Given the description of an element on the screen output the (x, y) to click on. 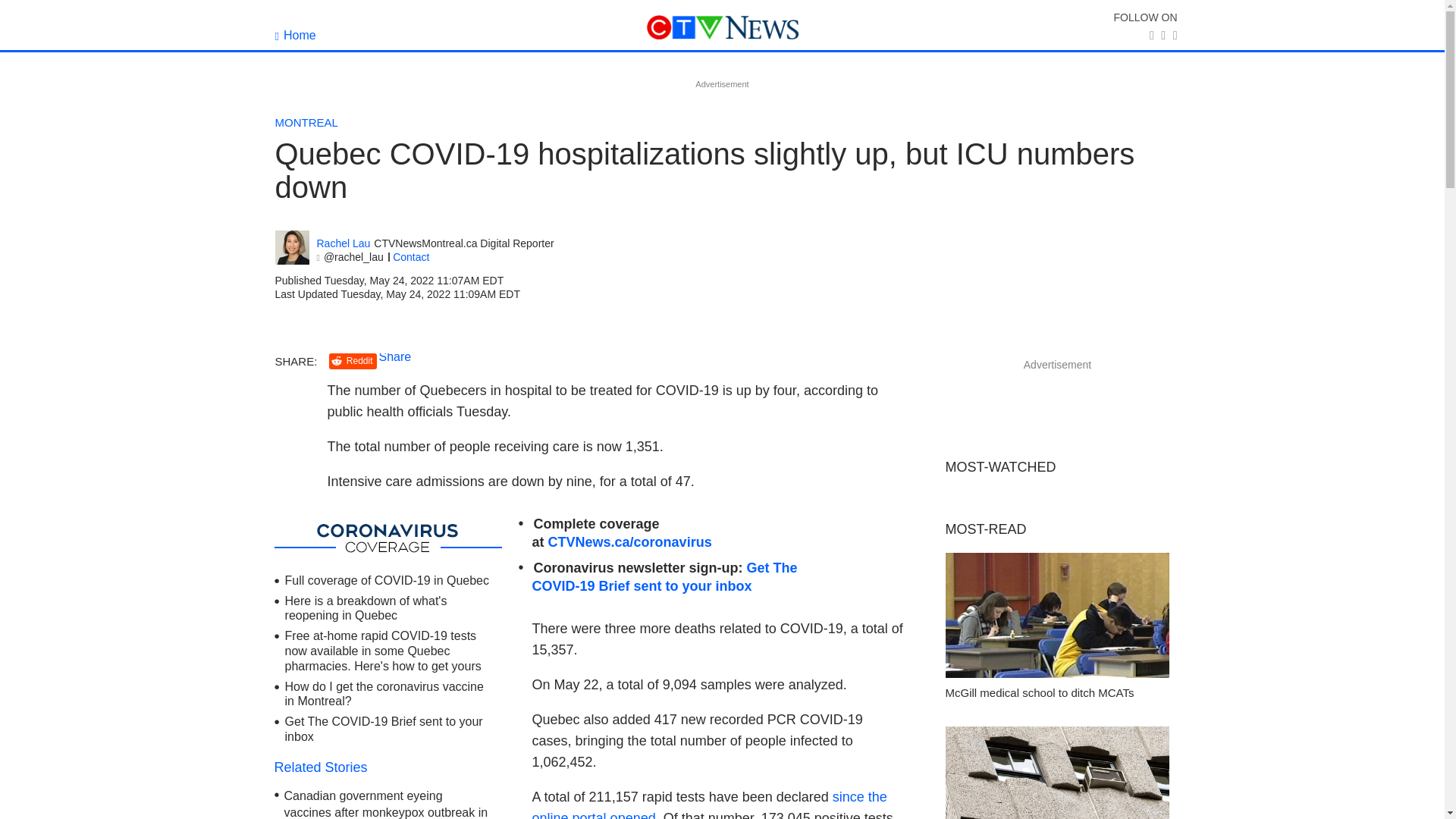
Rachel Lau (344, 243)
Here is a breakdown of what's reopening in Quebec (365, 608)
Get The COVID-19 Brief sent to your inbox (664, 576)
How do I get the coronavirus vaccine in Montreal? (384, 694)
Full coverage of COVID-19 in Quebec (387, 580)
Share (395, 356)
How do I get the coronavirus vaccine in Montreal? (384, 694)
Reddit (353, 360)
Here is a breakdown of what's reopening in Quebec (365, 608)
since the online portal opened (709, 804)
MONTREAL (306, 122)
Get The COVID-19 Brief sent to your inbox (384, 728)
